Given the description of an element on the screen output the (x, y) to click on. 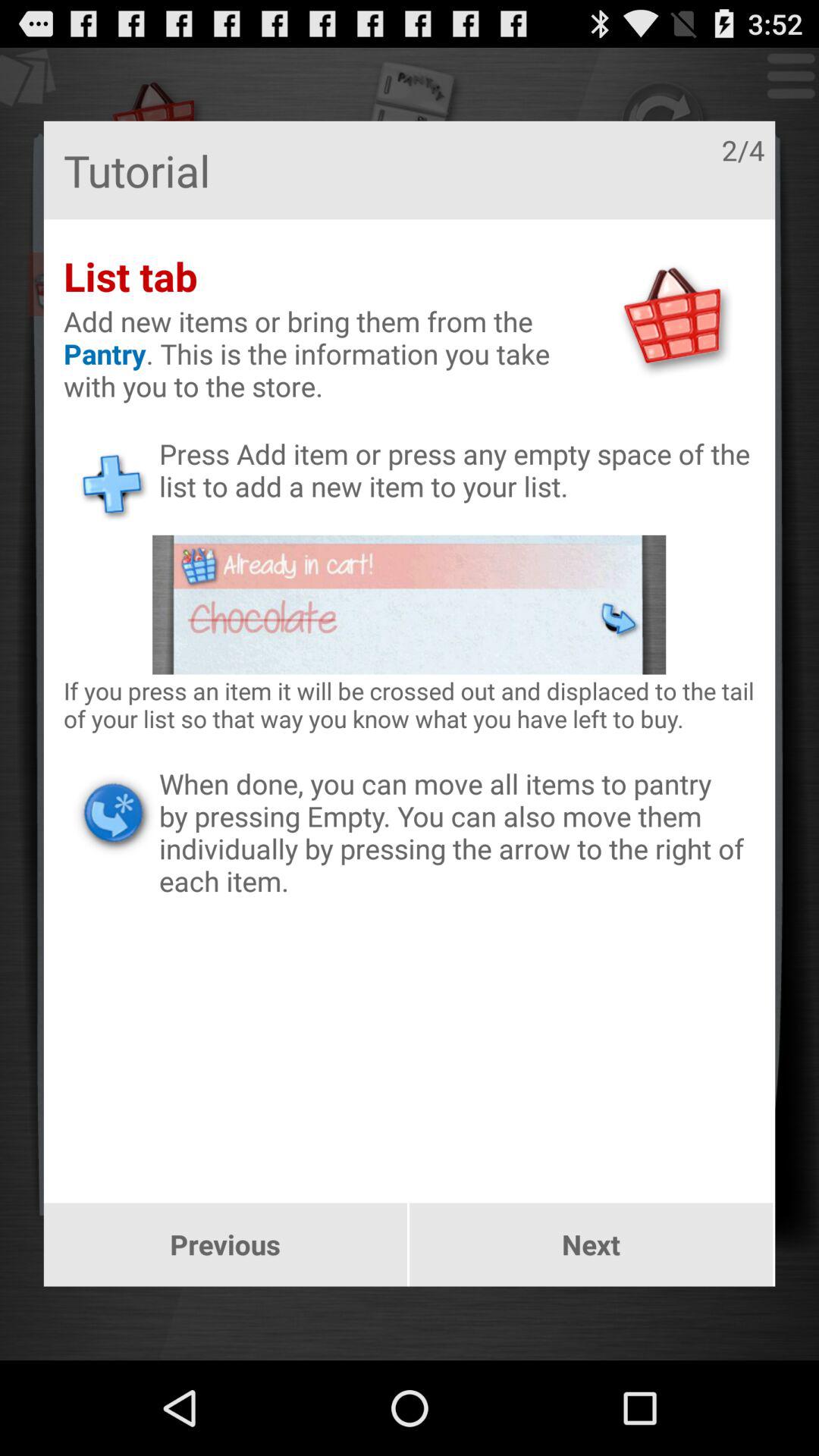
flip until the previous item (225, 1244)
